Given the description of an element on the screen output the (x, y) to click on. 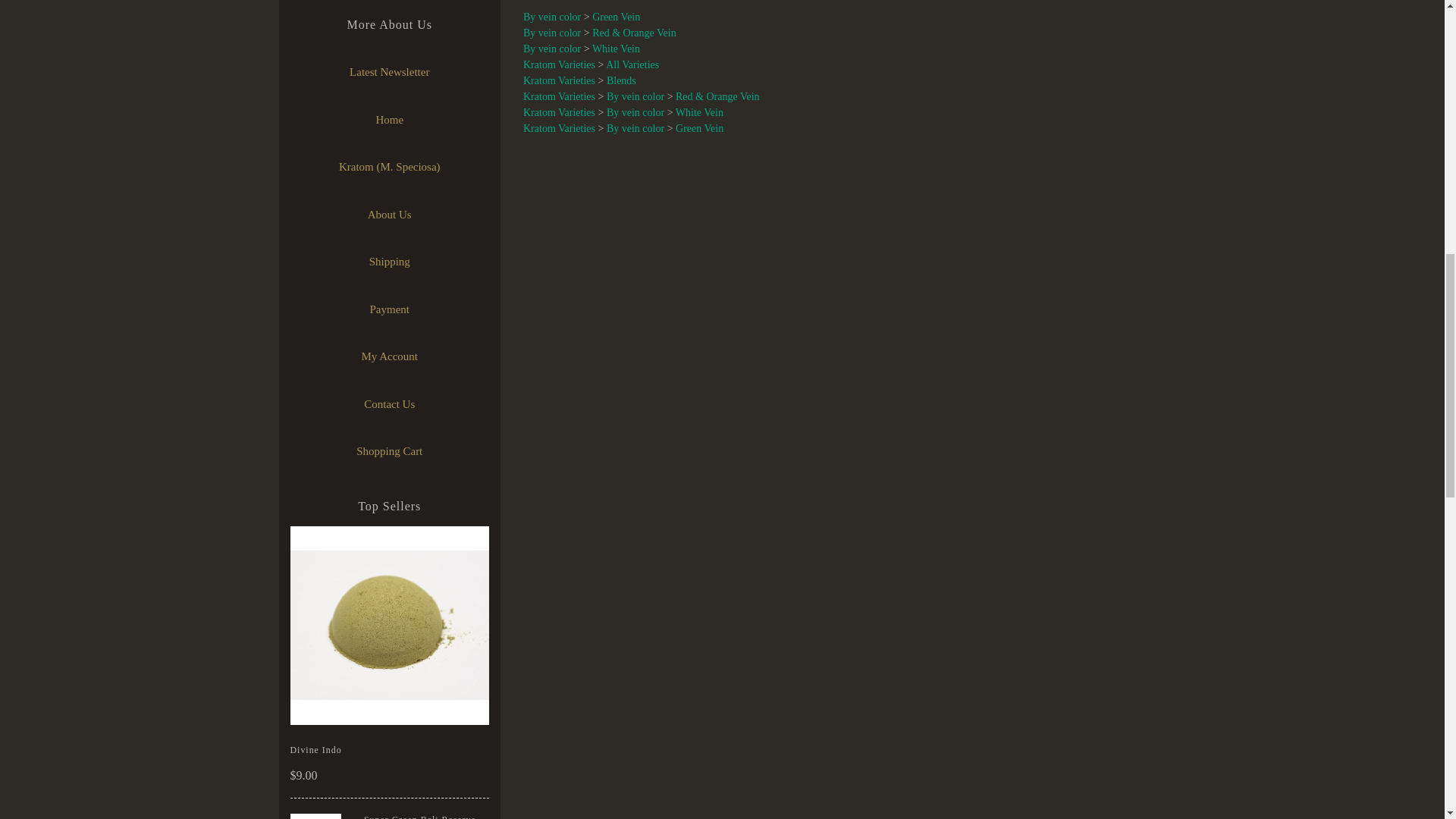
Latest Newsletter (389, 72)
